Given the description of an element on the screen output the (x, y) to click on. 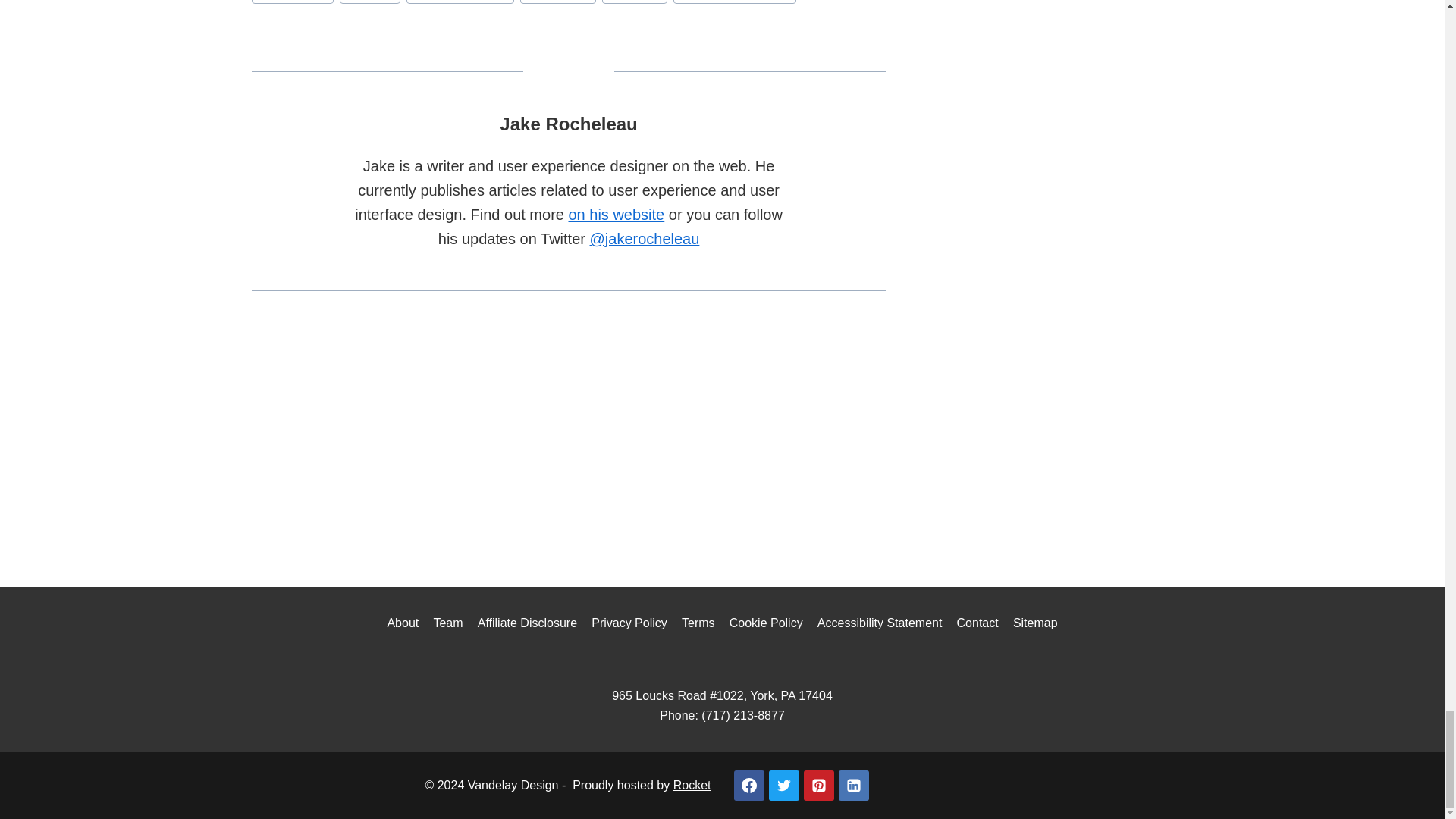
resources (557, 1)
Design Process (459, 1)
app design (292, 1)
tutorials (634, 1)
Web Development (733, 1)
Design (369, 1)
